Given the description of an element on the screen output the (x, y) to click on. 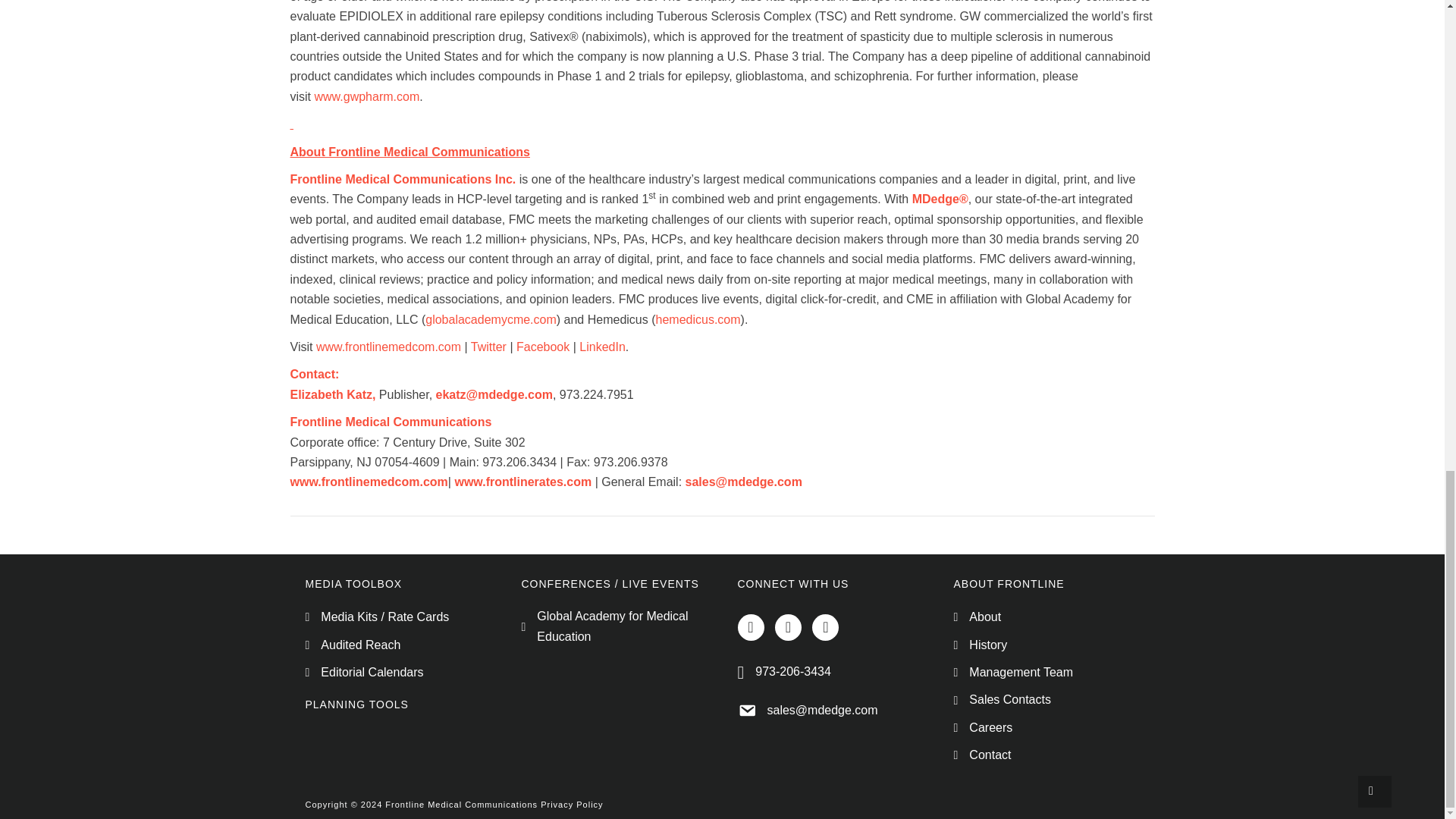
Planning Tools (355, 704)
